Given the description of an element on the screen output the (x, y) to click on. 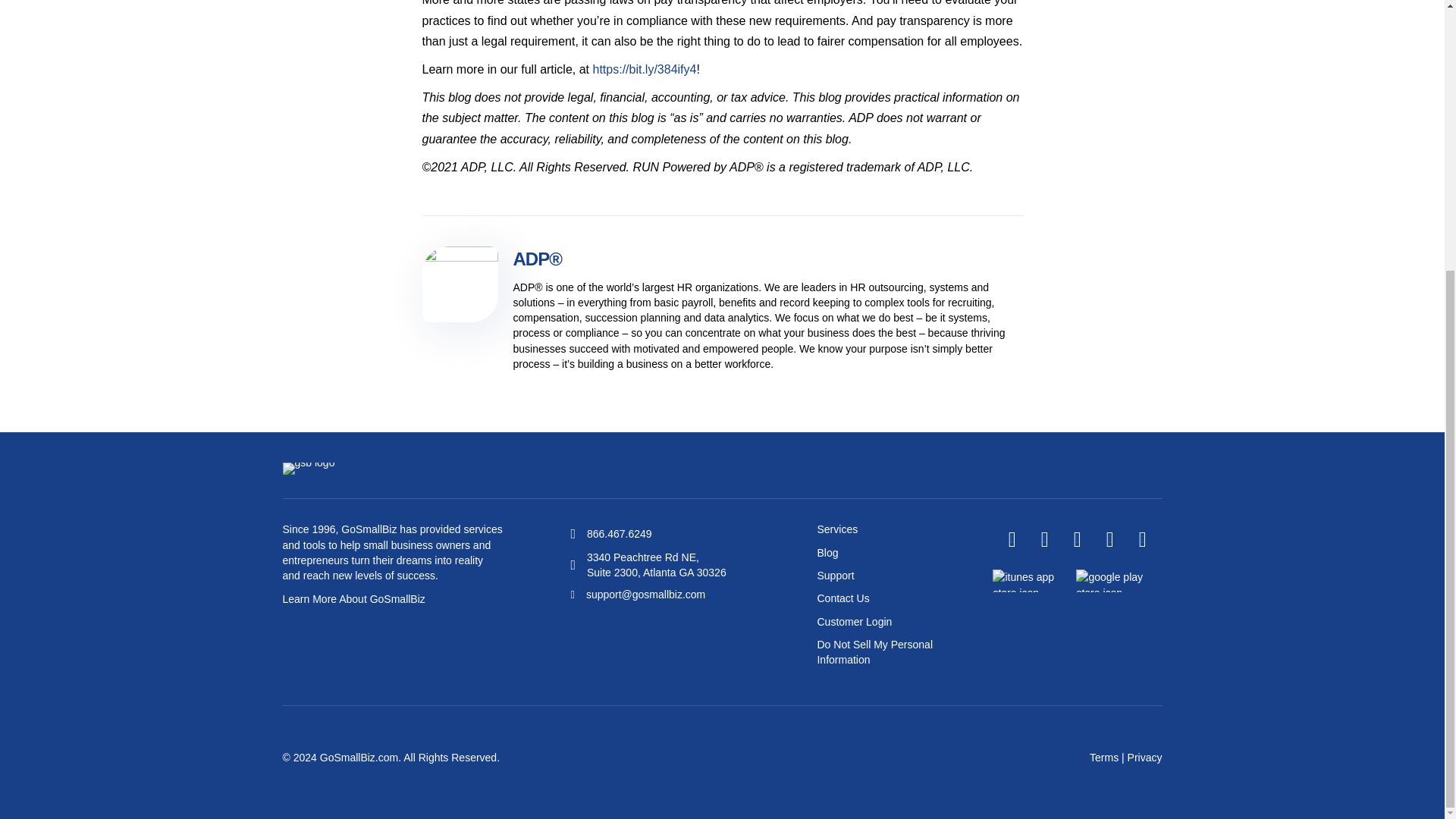
Blog (827, 552)
866.467.6249 (619, 533)
Do Not Sell My Personal Information (874, 651)
Linkedin (1077, 539)
Services (836, 529)
Facebook (1011, 539)
Contact Us (842, 598)
Youtube (1109, 539)
Email (1142, 539)
Group 3 (308, 468)
